Given the description of an element on the screen output the (x, y) to click on. 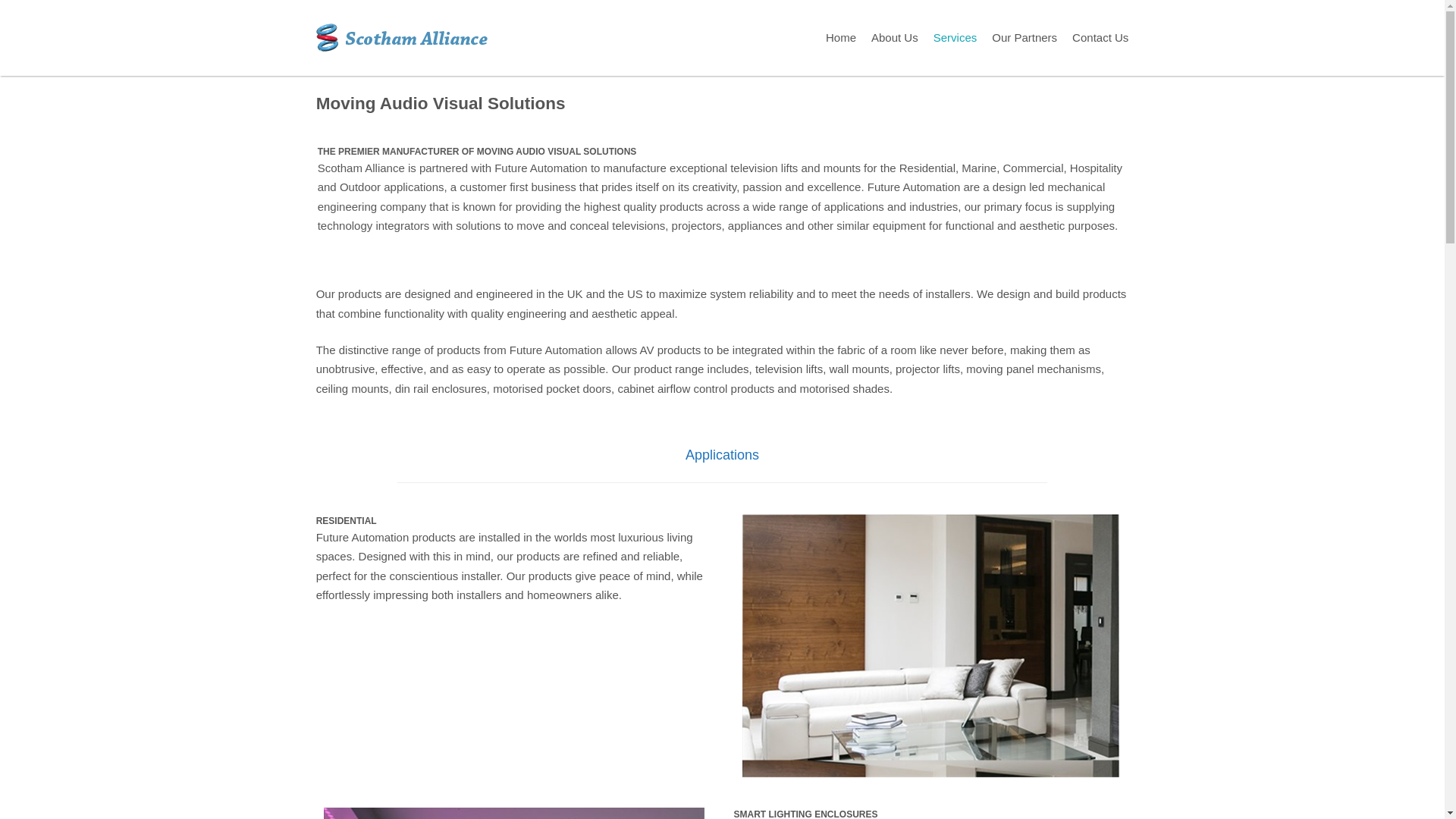
Services (954, 37)
Our Partners (1024, 37)
About Us (894, 37)
Home (840, 37)
Contact Us (1099, 37)
